Given the description of an element on the screen output the (x, y) to click on. 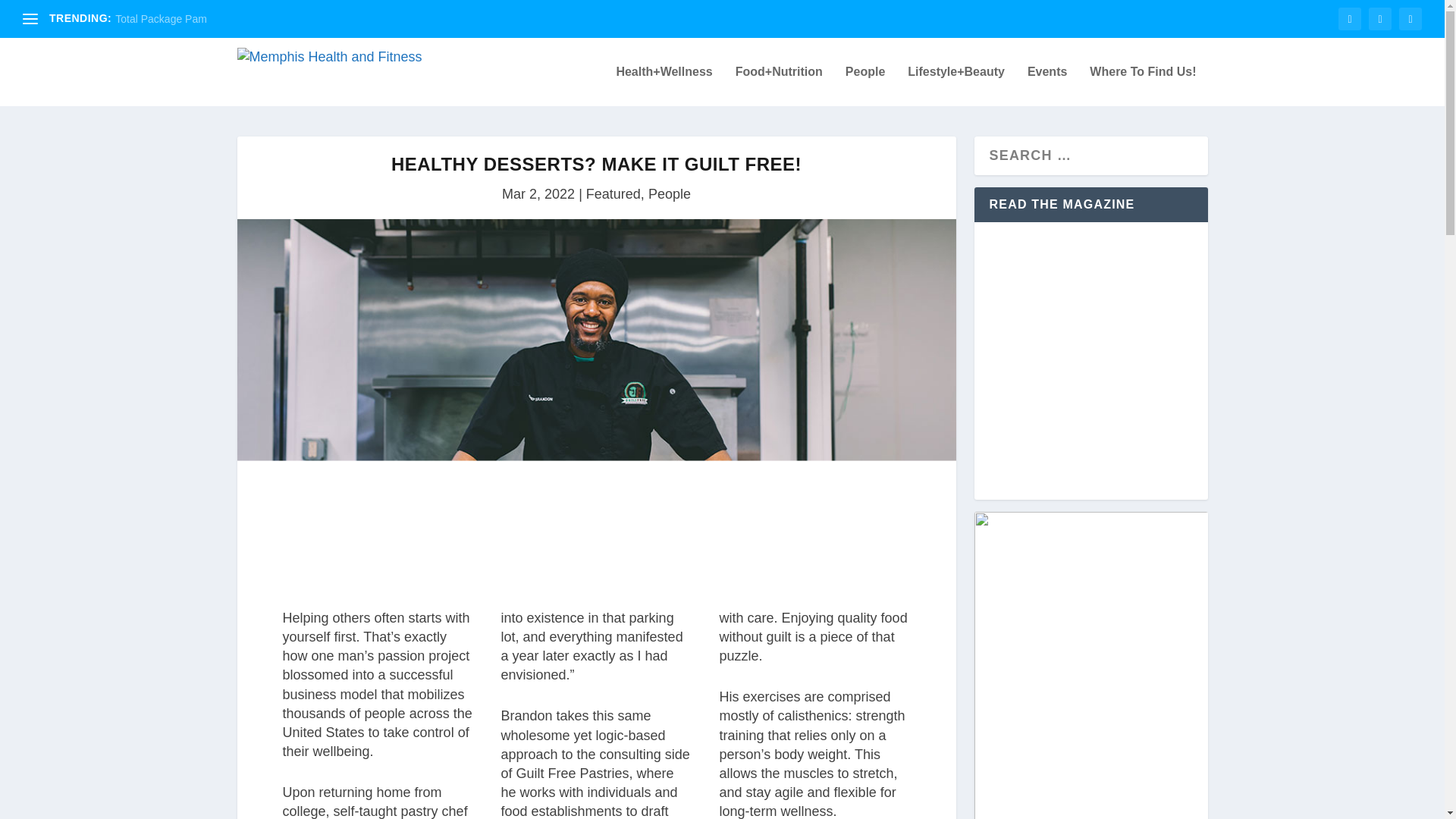
Events (1047, 86)
People (865, 86)
People (668, 193)
Search (37, 15)
Total Package Pam (160, 19)
Where To Find Us! (1142, 86)
Featured (613, 193)
